Given the description of an element on the screen output the (x, y) to click on. 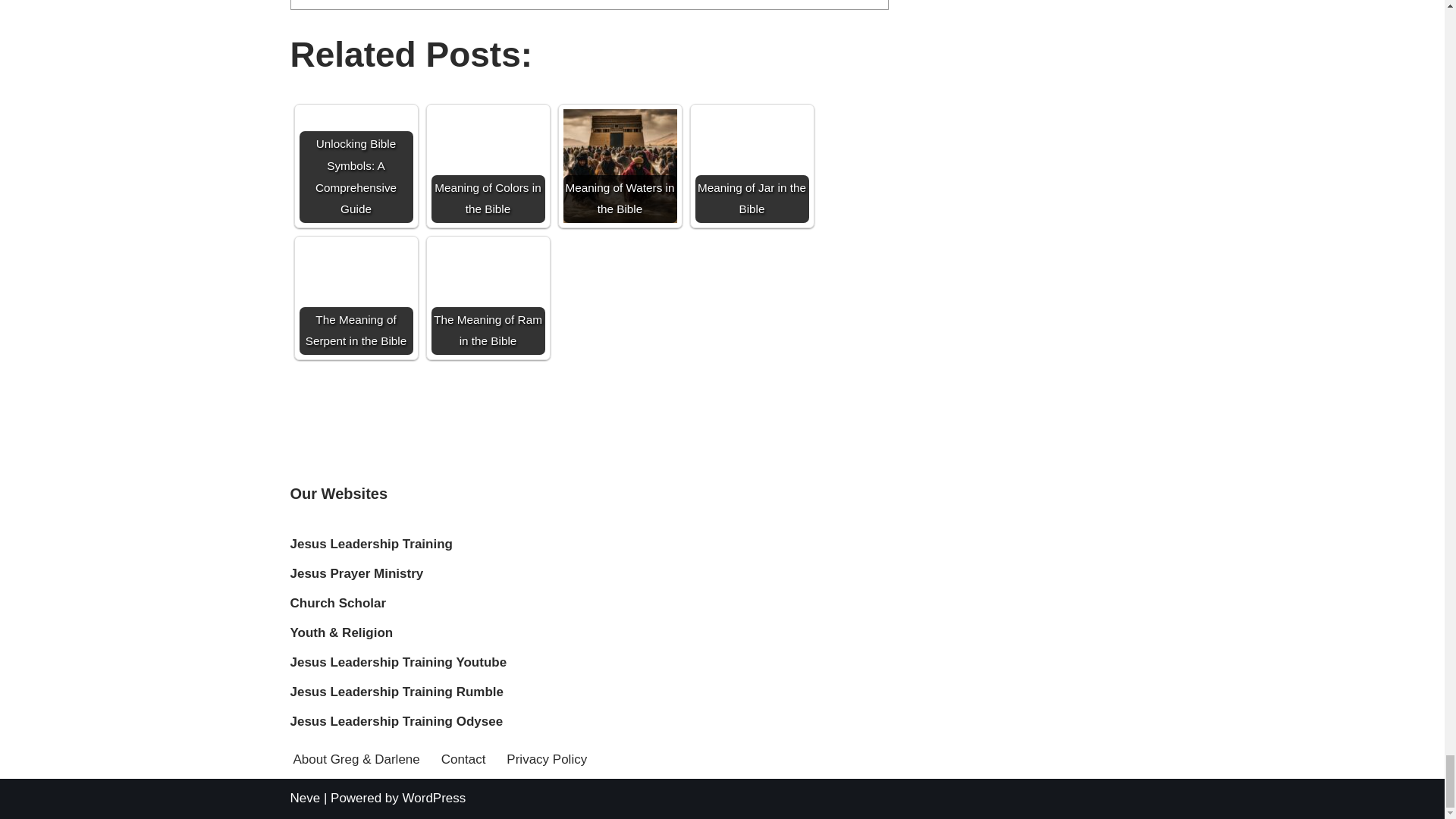
Unlocking Bible Symbols: A Comprehensive Guide (355, 165)
Meaning of Colors in the Bible (487, 165)
The Meaning of Ram in the Bible (487, 297)
The Meaning of Serpent in the Bible (355, 297)
Meaning of Colors in the Bible (487, 165)
Meaning of Waters in the Bible (619, 165)
Meaning of Jar in the Bible (751, 165)
Meaning of Jar in the Bible (751, 165)
Meaning of Waters in the Bible (619, 165)
Unlocking Bible Symbols: A Comprehensive Guide (355, 141)
